Given the description of an element on the screen output the (x, y) to click on. 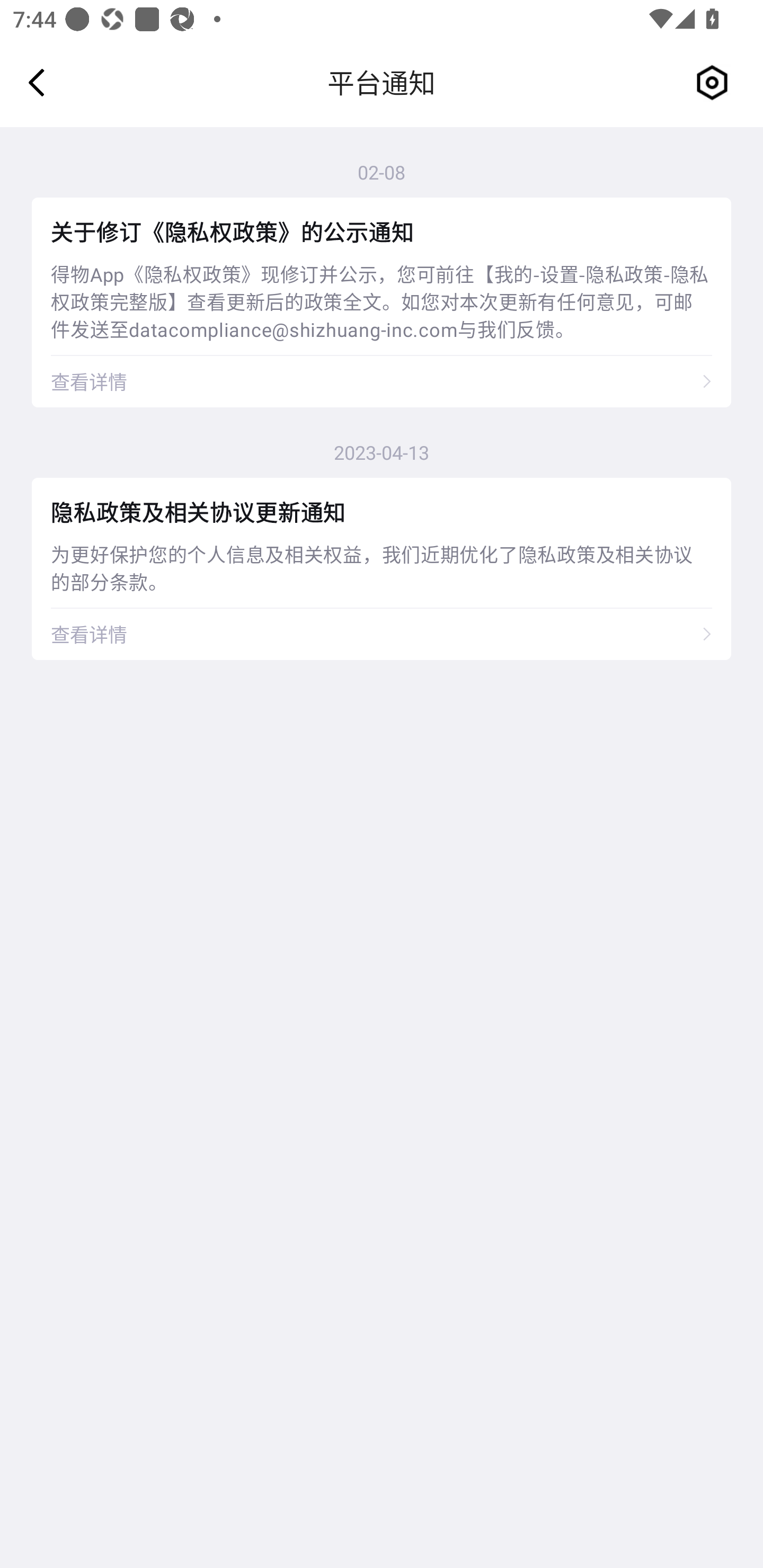
Navigate up (36, 82)
